Given the description of an element on the screen output the (x, y) to click on. 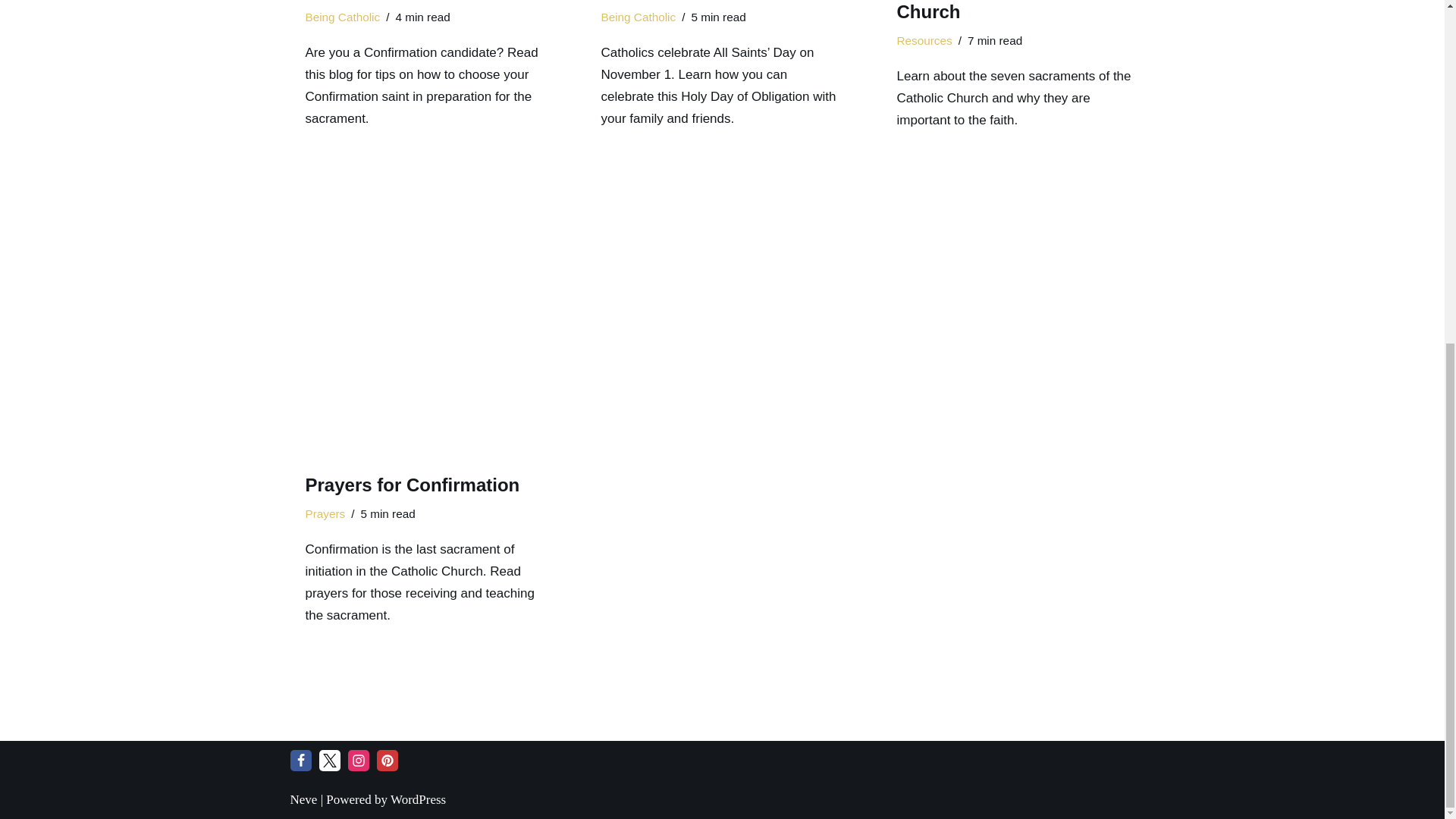
Prayers for Confirmation (425, 321)
Pinterest (386, 760)
Instagram (357, 760)
Being Catholic (342, 16)
Twitter (328, 760)
Facebook (300, 760)
